Given the description of an element on the screen output the (x, y) to click on. 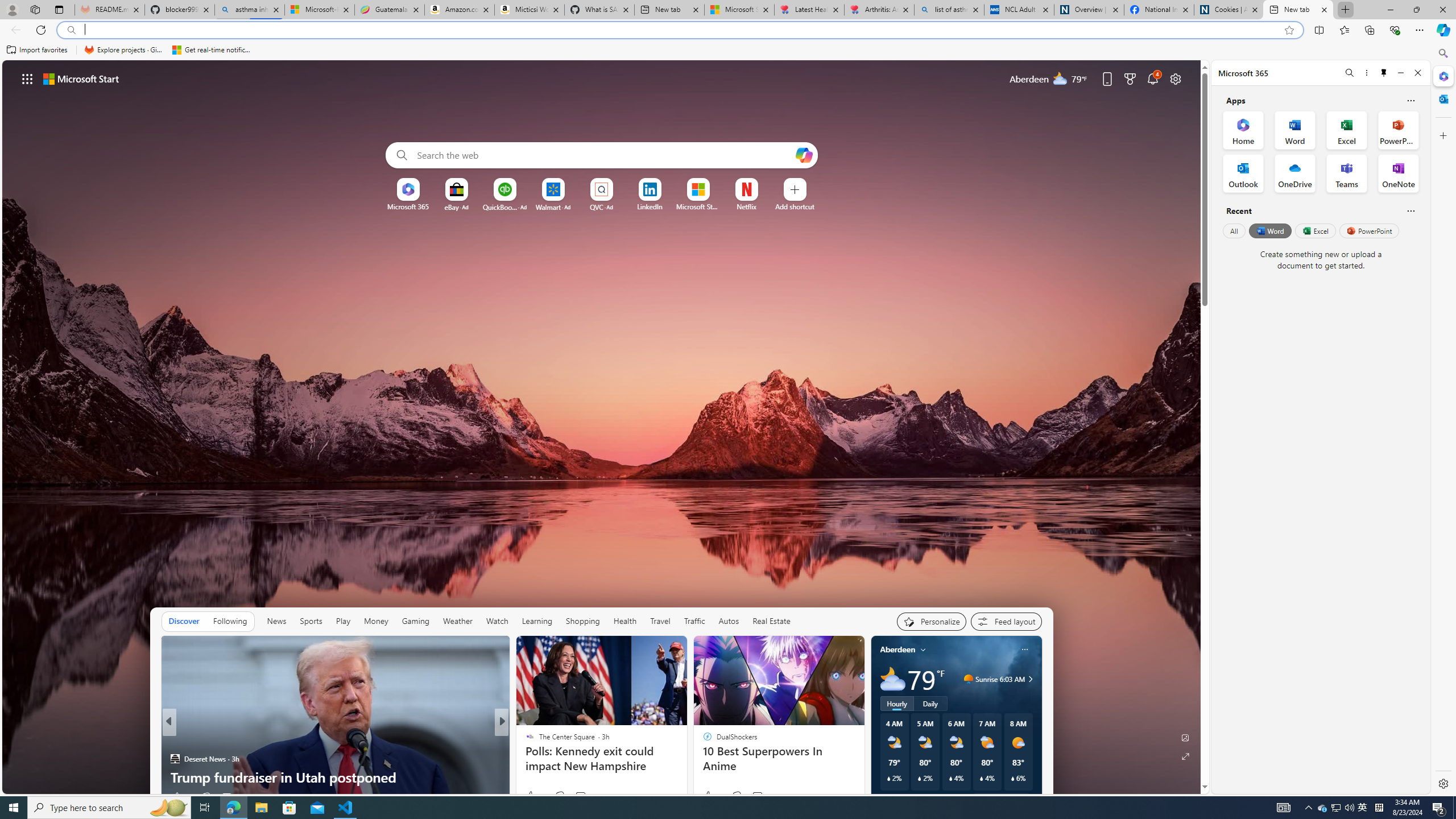
View comments 338 Comment (576, 797)
Feed settings (1005, 621)
Federal Reserve decides to cut interest rates in September (684, 767)
TODAY (524, 740)
261 Like (532, 796)
